Given the description of an element on the screen output the (x, y) to click on. 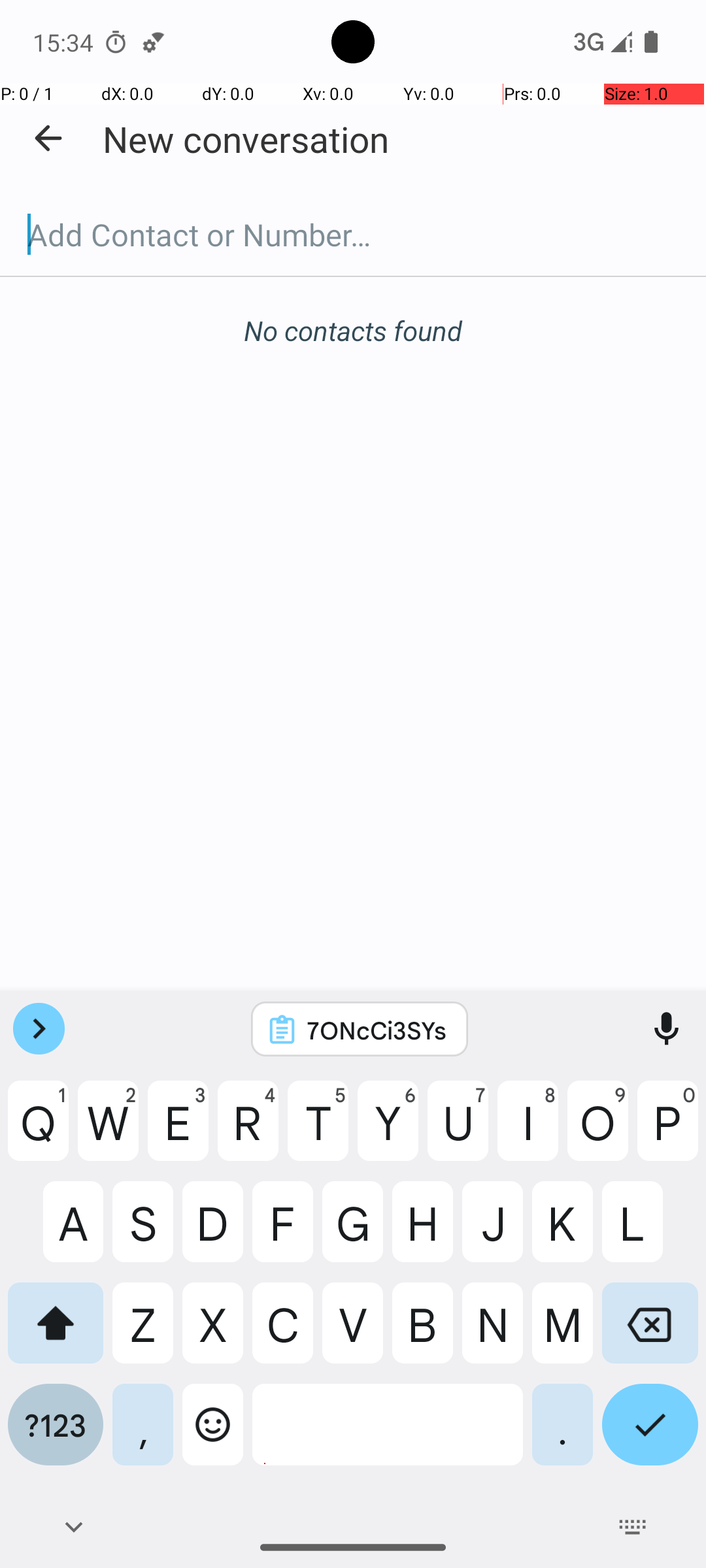
7ONcCi3SYs Element type: android.widget.TextView (376, 1029)
